Given the description of an element on the screen output the (x, y) to click on. 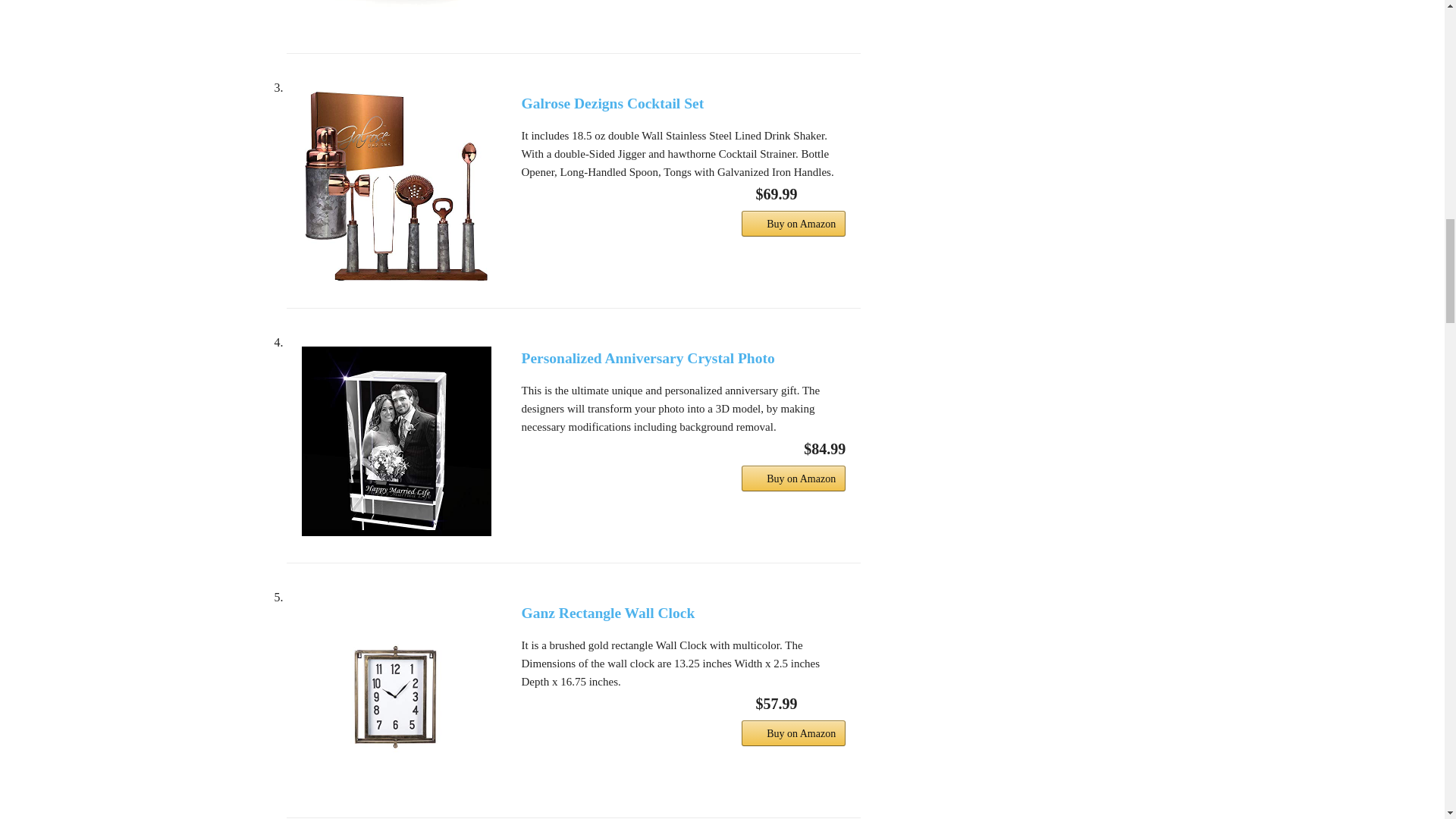
11 Best One Year Anniversary Gifts For Girlfriend: Top Ideas (395, 186)
11 Best One Year Anniversary Gifts For Girlfriend: Top Ideas (396, 13)
Galrose Dezigns Cocktail Set (683, 103)
Buy on Amazon (793, 223)
11 Best One Year Anniversary Gifts For Girlfriend: Top Ideas (396, 441)
